Given the description of an element on the screen output the (x, y) to click on. 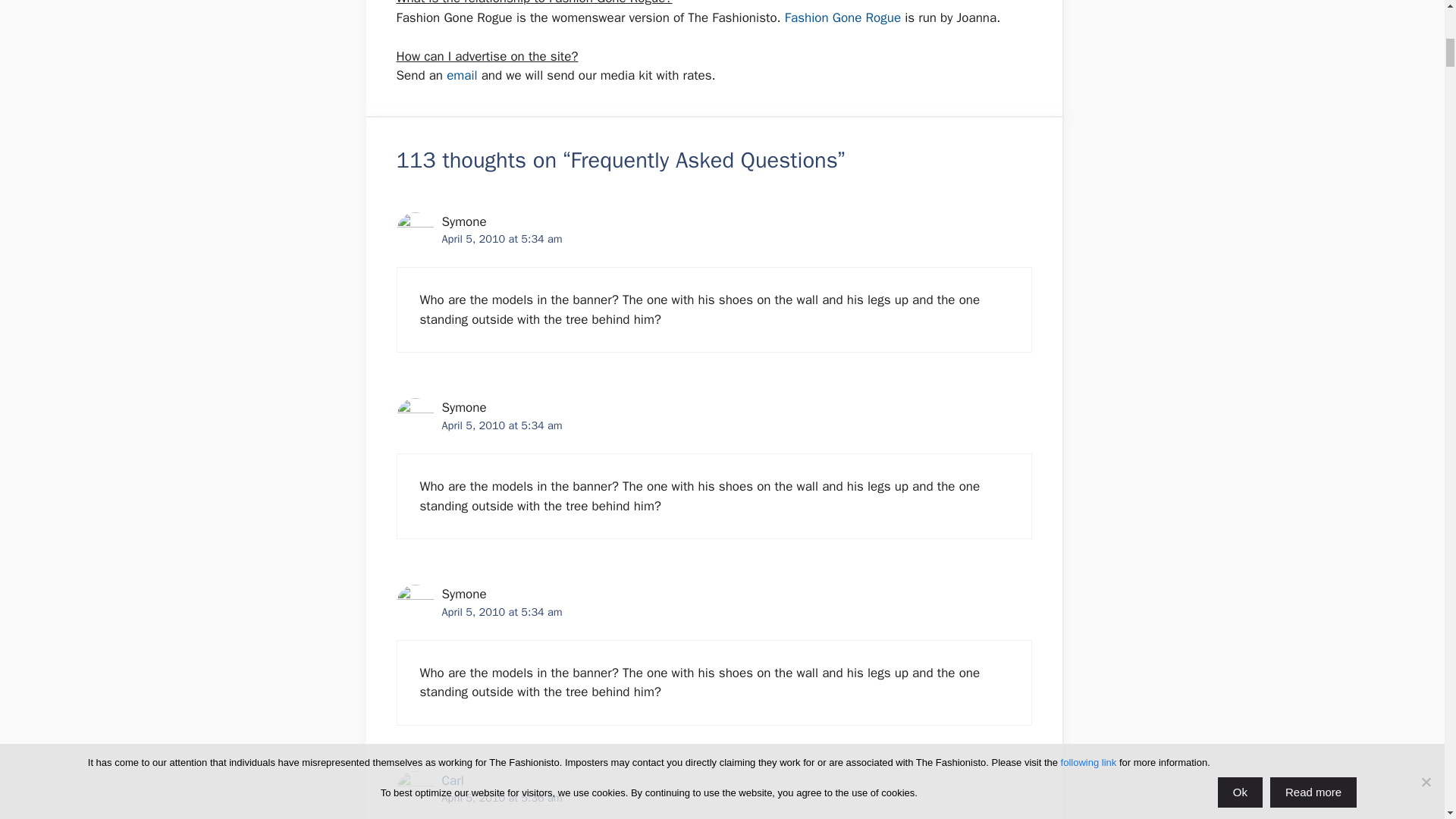
Carl (452, 780)
April 5, 2010 at 5:34 am (501, 612)
Fashion Gone Rogue (842, 17)
Scroll back to top (1406, 720)
email (461, 75)
April 5, 2010 at 5:34 am (501, 238)
April 5, 2010 at 5:36 am (501, 797)
April 5, 2010 at 5:34 am (501, 425)
